Given the description of an element on the screen output the (x, y) to click on. 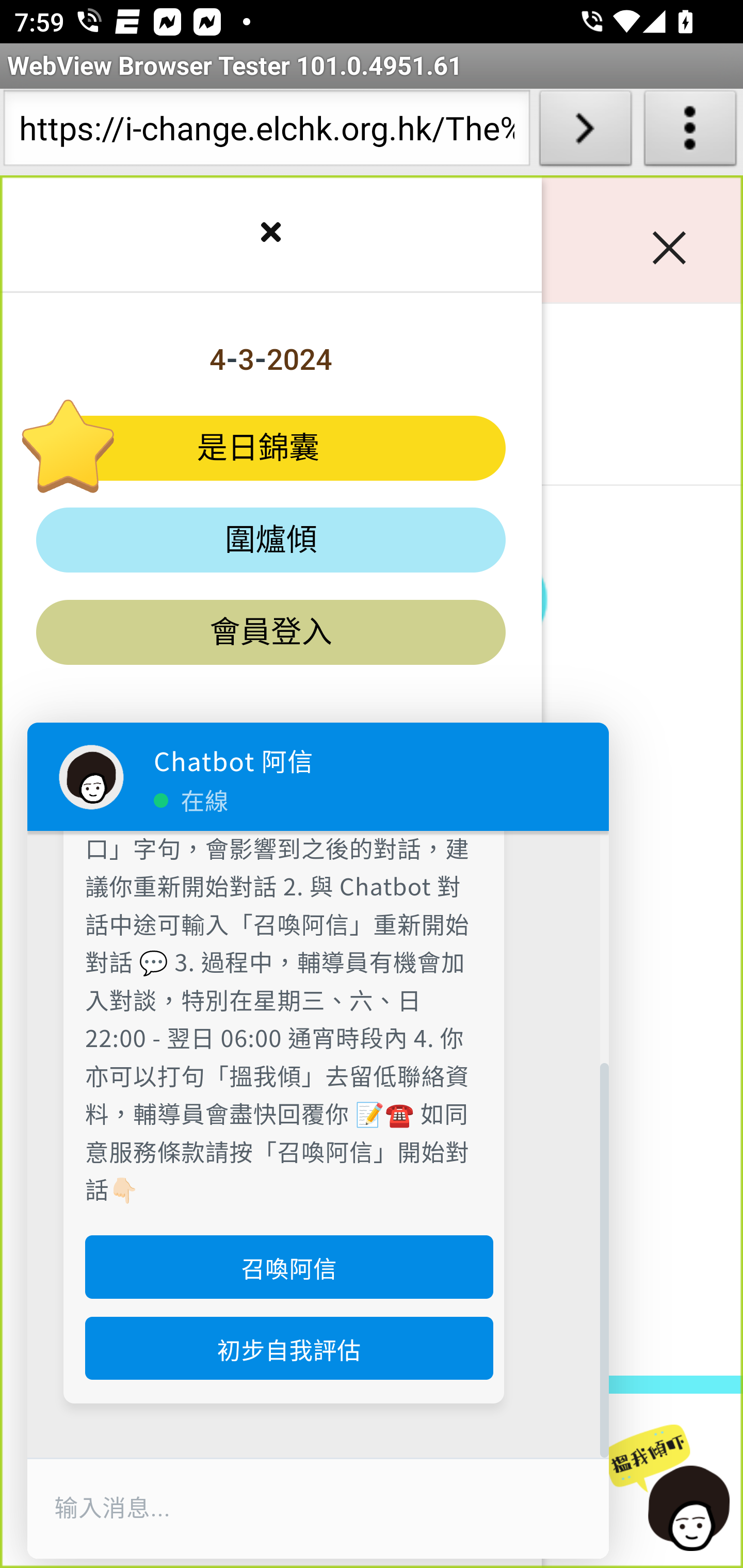
Load URL (585, 132)
About WebView (690, 132)
 (270, 234)
是日錦囊 (270, 447)
圍爐傾 (270, 540)
會員登入 (270, 631)
Chat Now (673, 1488)
